Given the description of an element on the screen output the (x, y) to click on. 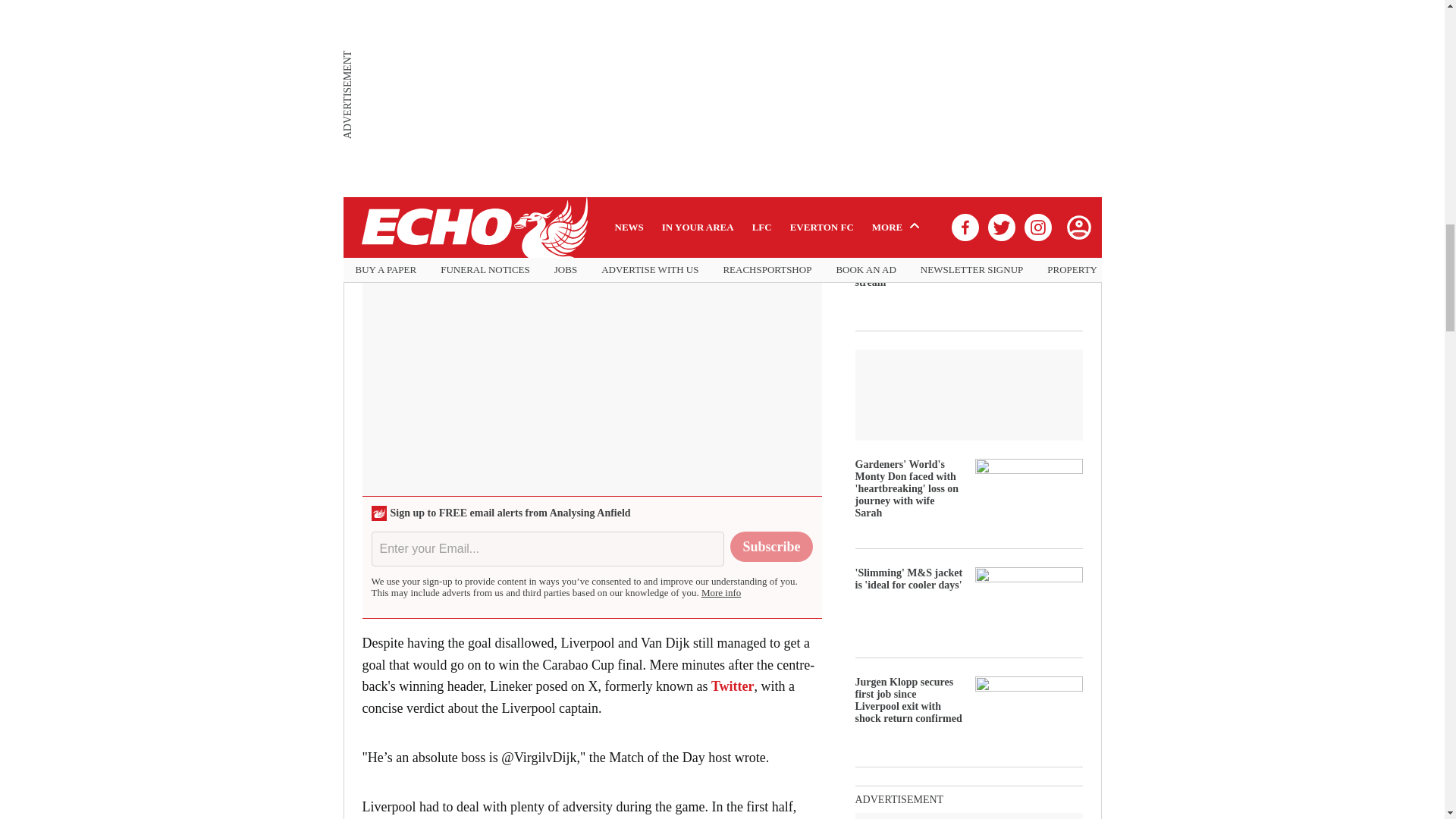
More info (721, 592)
Twitter (732, 685)
Subscribe (771, 546)
